Given the description of an element on the screen output the (x, y) to click on. 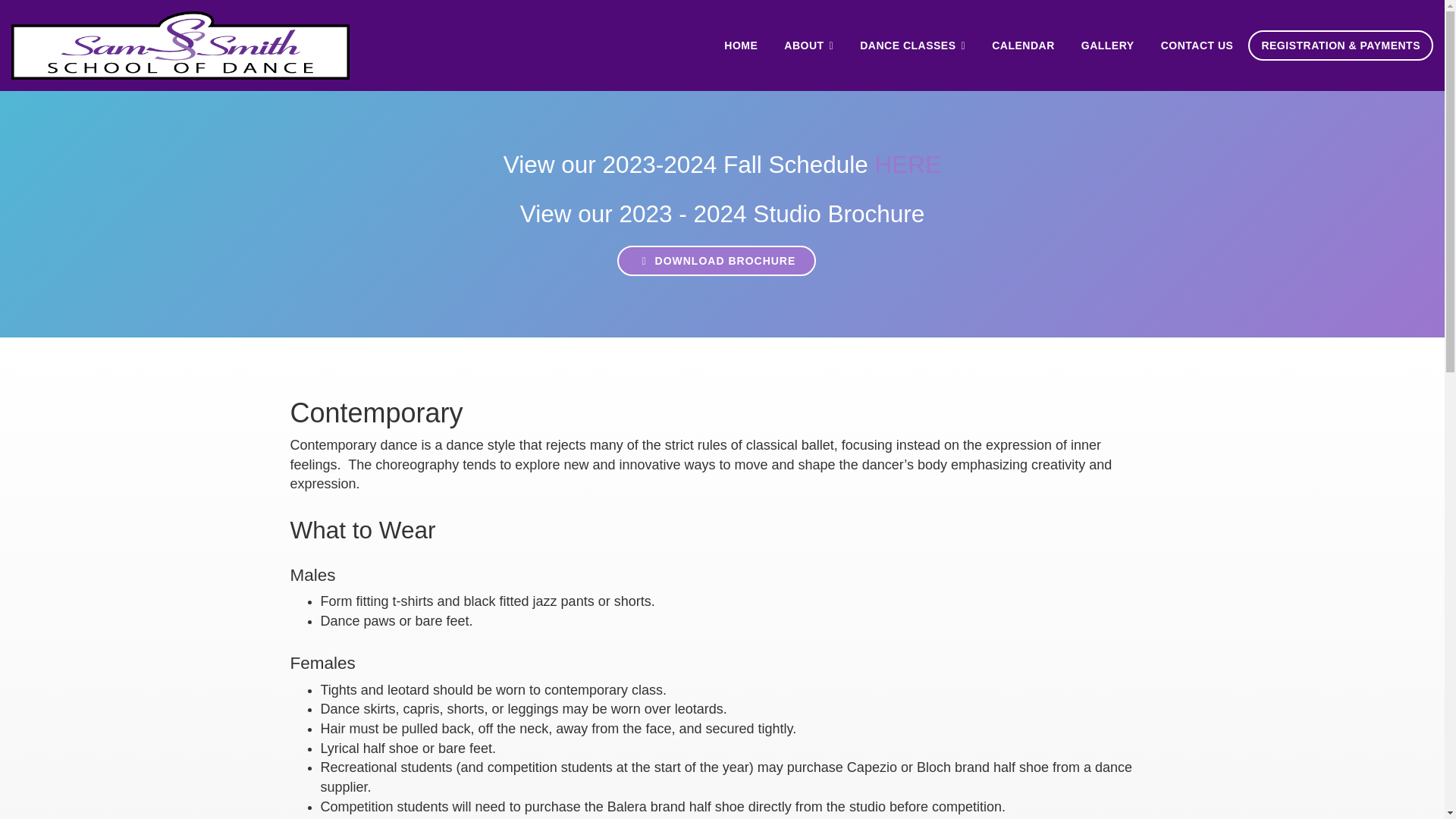
Sam Smith School of Dance (180, 45)
HERE (908, 164)
CONTACT US (1197, 45)
HOME (740, 45)
DANCE CLASSES (912, 45)
CALENDAR (1022, 45)
DOWNLOAD BROCHURE (716, 260)
ABOUT (808, 45)
GALLERY (1107, 45)
